Given the description of an element on the screen output the (x, y) to click on. 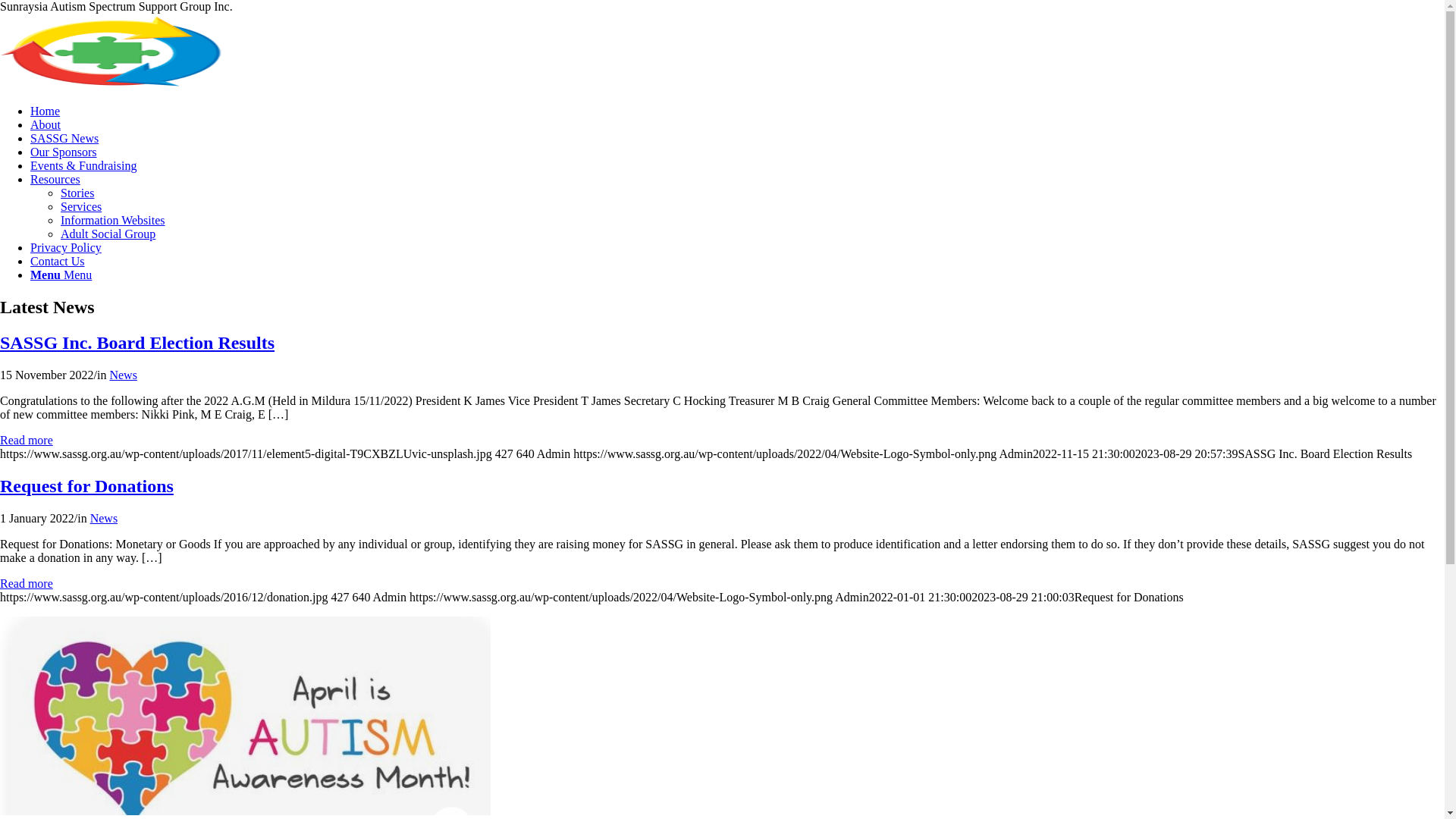
Read more Element type: text (26, 583)
SASSG News Element type: text (64, 137)
News Element type: text (103, 517)
Request for Donations Element type: text (86, 485)
Services Element type: text (80, 206)
Resources Element type: text (55, 178)
Adult Social Group Element type: text (107, 233)
About Element type: text (45, 124)
Stories Element type: text (77, 192)
Our Sponsors Element type: text (63, 151)
News Element type: text (122, 374)
Read more Element type: text (26, 439)
Events & Fundraising Element type: text (83, 165)
Contact Us Element type: text (57, 260)
SASSG Inc. Board Election Results Element type: text (137, 342)
Information Websites Element type: text (112, 219)
Privacy Policy Element type: text (65, 247)
Menu Menu Element type: text (60, 274)
Home Element type: text (44, 110)
